Given the description of an element on the screen output the (x, y) to click on. 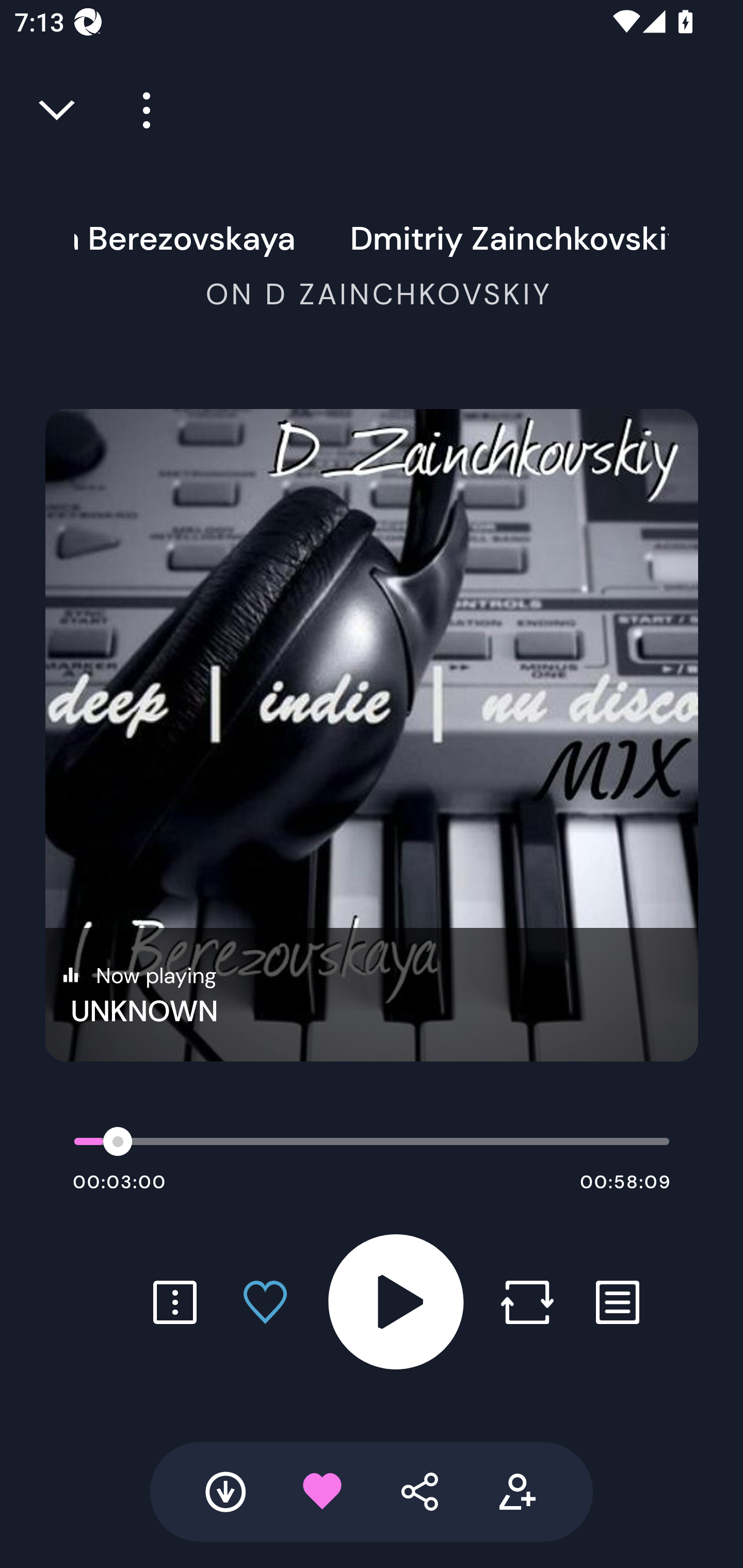
Close full player (58, 110)
Player more options button (139, 110)
Repost button (527, 1301)
